Given the description of an element on the screen output the (x, y) to click on. 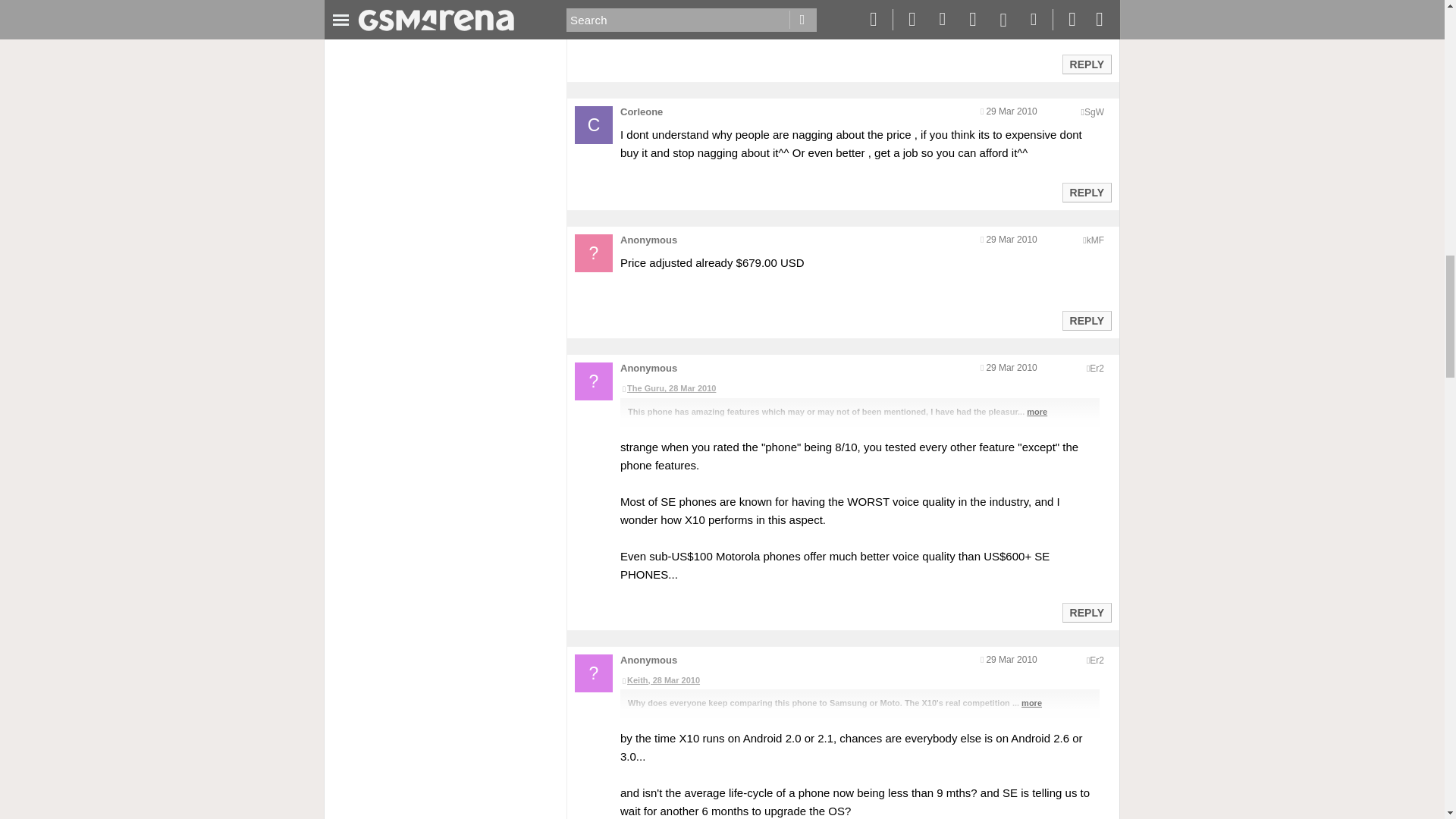
Reply to this post (1086, 612)
Encoded anonymized location (1096, 660)
Encoded anonymized location (1096, 368)
Reply to this post (1086, 64)
Reply to this post (1086, 320)
Reply to this post (1086, 192)
Encoded anonymized location (1093, 112)
Encoded anonymized location (1094, 240)
